Given the description of an element on the screen output the (x, y) to click on. 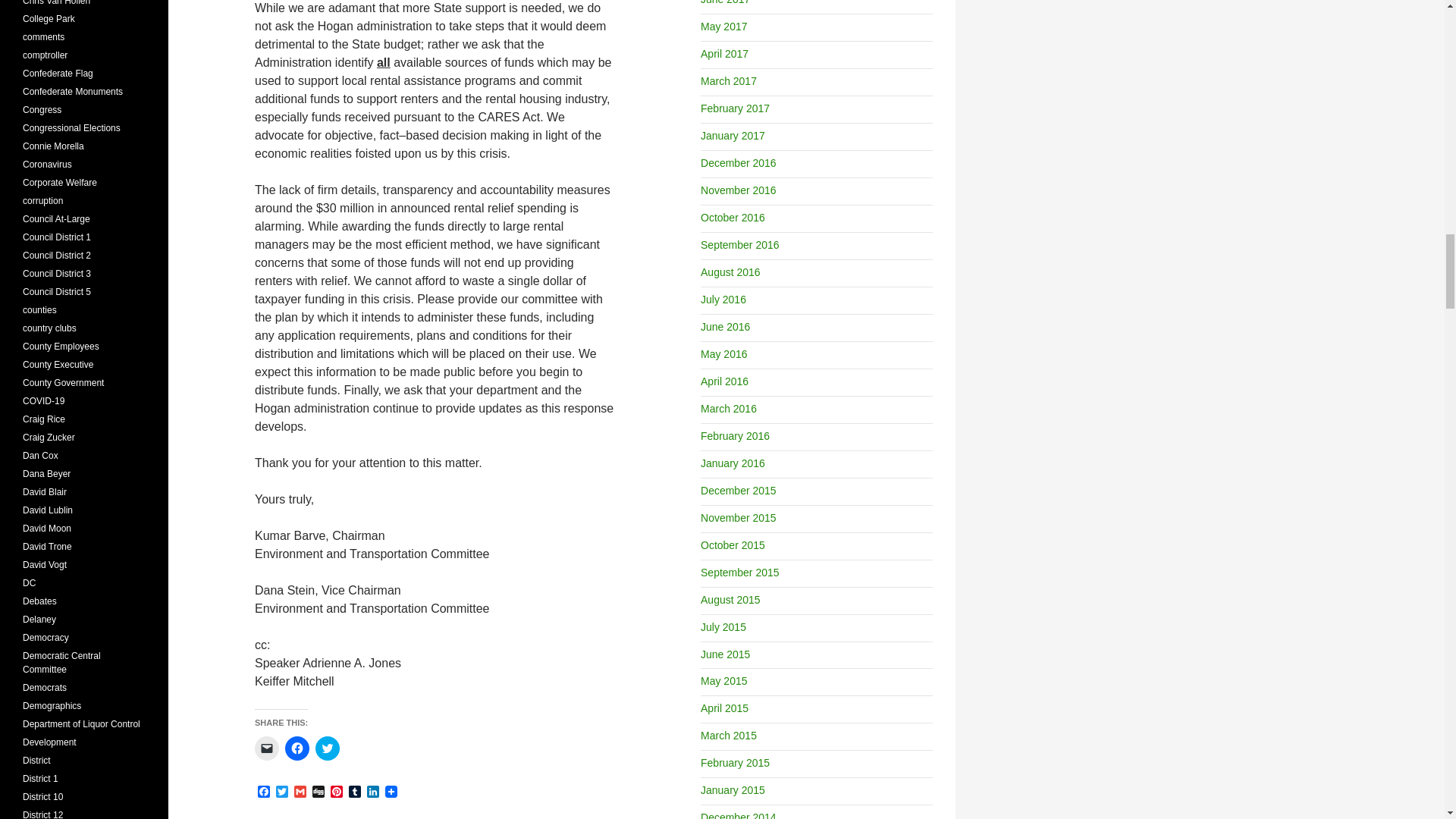
Facebook (263, 792)
Twitter (282, 792)
Click to share on Twitter (327, 748)
Pinterest (336, 792)
LinkedIn (372, 792)
Digg (317, 792)
Facebook (263, 792)
Tumblr (355, 792)
Tumblr (355, 792)
Click to share on Facebook (296, 748)
Digg (317, 792)
Gmail (299, 792)
LinkedIn (372, 792)
Gmail (299, 792)
Twitter (282, 792)
